Given the description of an element on the screen output the (x, y) to click on. 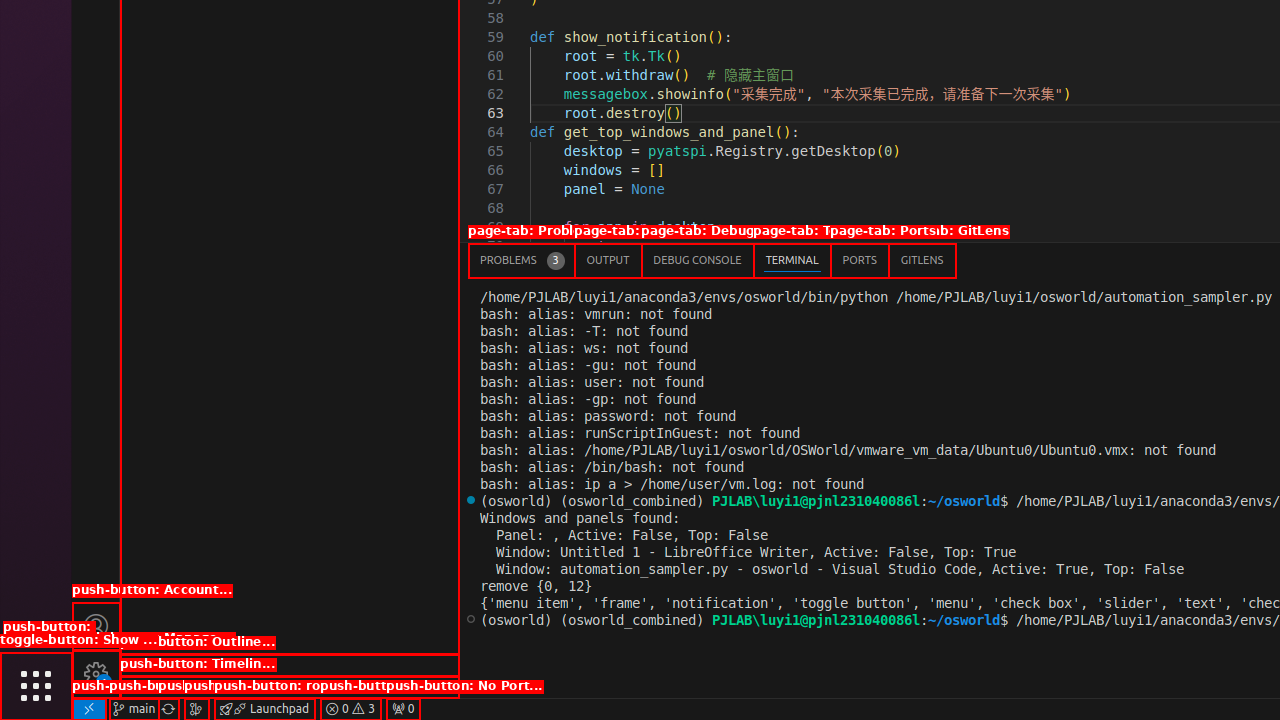
Timeline Section Element type: push-button (289, 687)
Terminal (Ctrl+`) Element type: page-tab (792, 260)
Warnings: 3 Element type: push-button (350, 709)
Problems (Ctrl+Shift+M) - Total 3 Problems Element type: page-tab (521, 260)
